Given the description of an element on the screen output the (x, y) to click on. 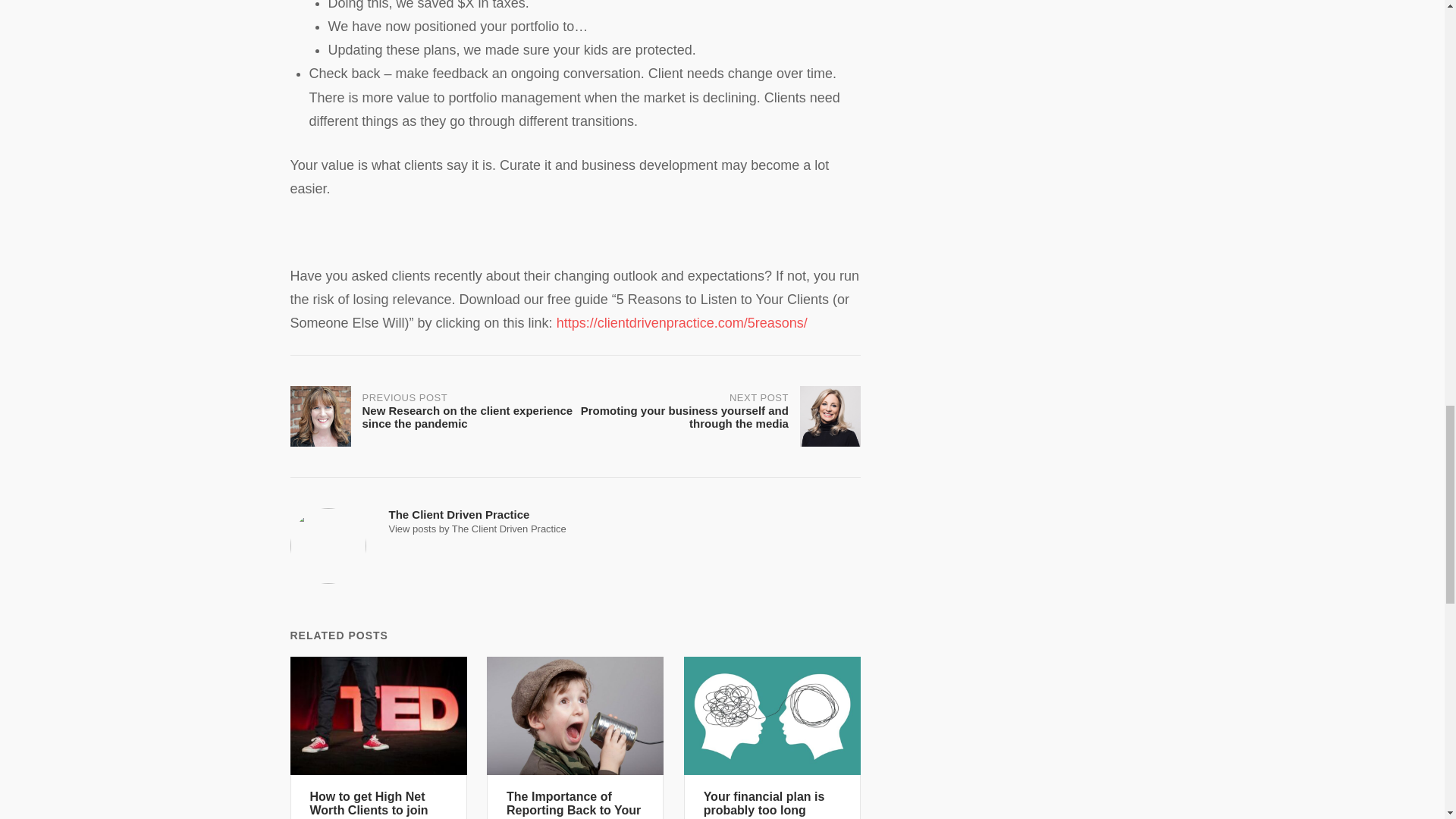
Your financial plan is probably too long (772, 737)
The Importance of Reporting Back to Your Board (574, 737)
View posts by The Client Driven Practice (772, 737)
